Given the description of an element on the screen output the (x, y) to click on. 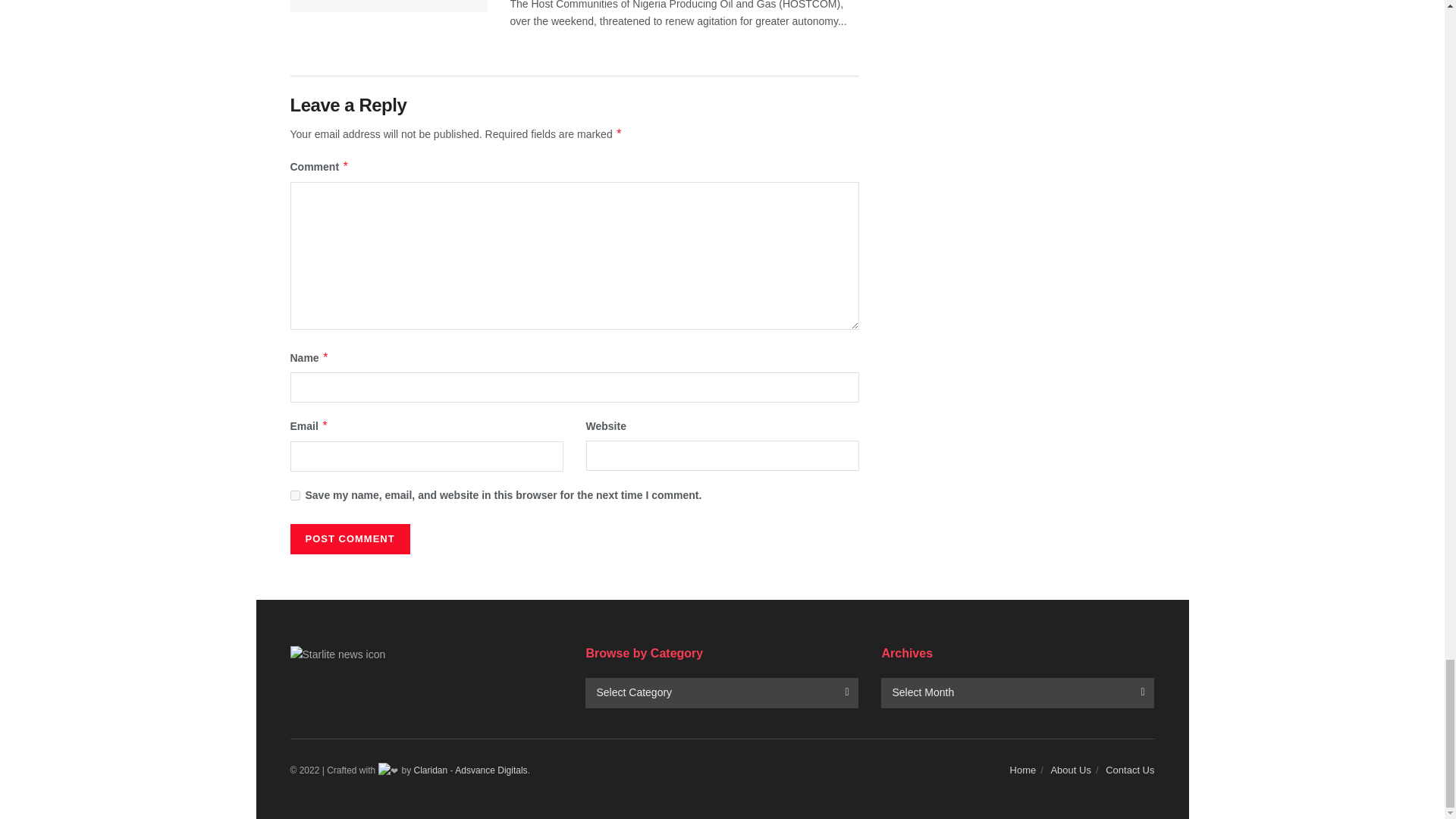
Digital Marketing Agency in Nigeria (490, 769)
Information and Entertainment Blog (430, 769)
Post Comment (349, 539)
yes (294, 495)
